Given the description of an element on the screen output the (x, y) to click on. 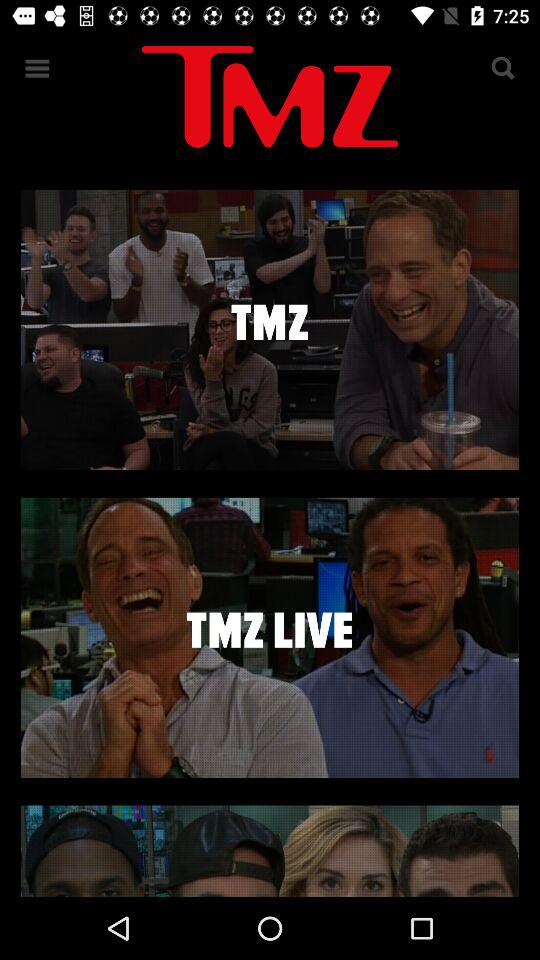
view show live (270, 637)
